Given the description of an element on the screen output the (x, y) to click on. 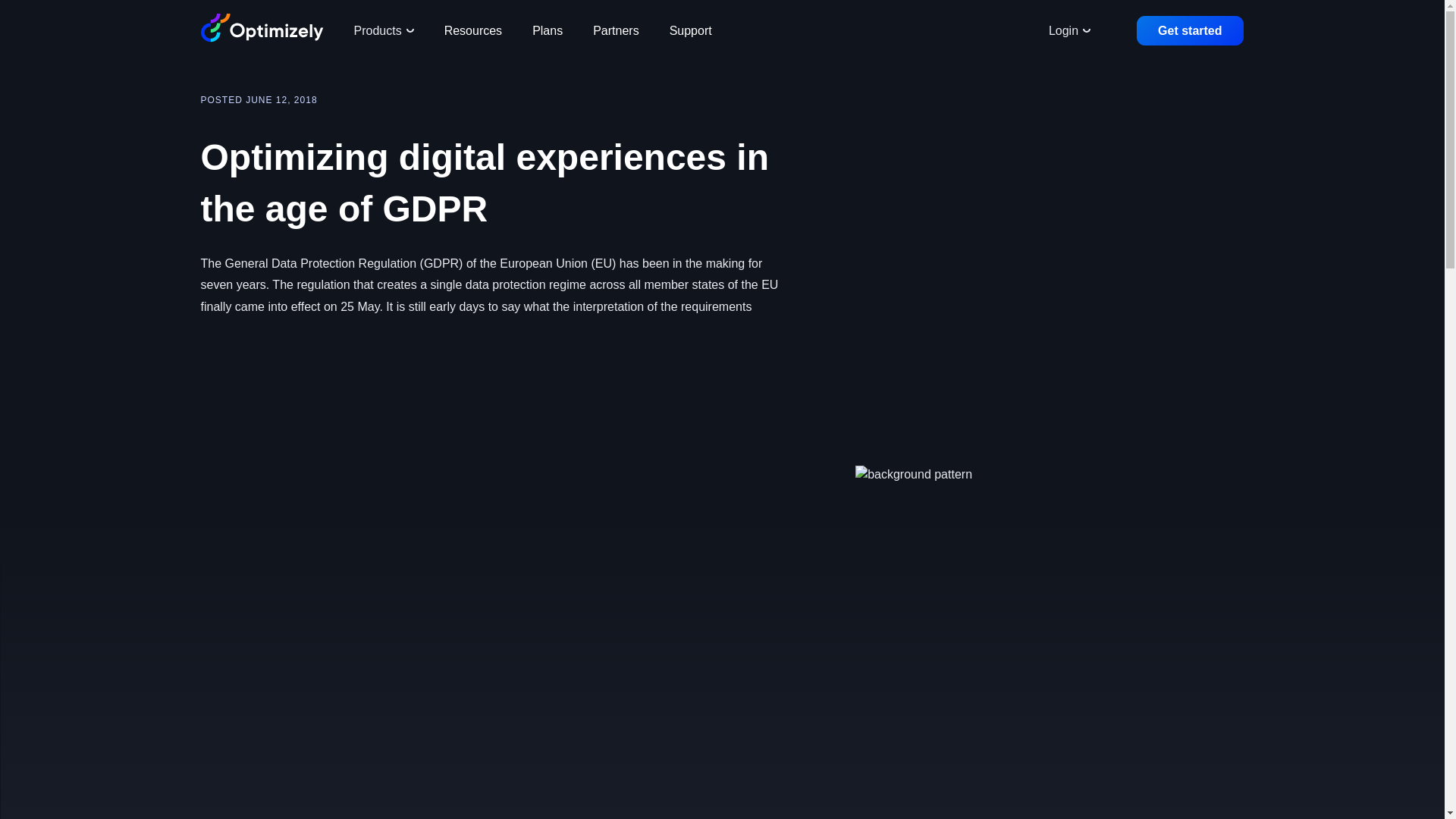
Optimizely Logo (261, 30)
Optimizely Logo (261, 27)
Support (689, 30)
Products (382, 30)
Get started (1189, 30)
Login (1069, 30)
Resources (472, 30)
Partners (615, 30)
Plans (547, 30)
